Given the description of an element on the screen output the (x, y) to click on. 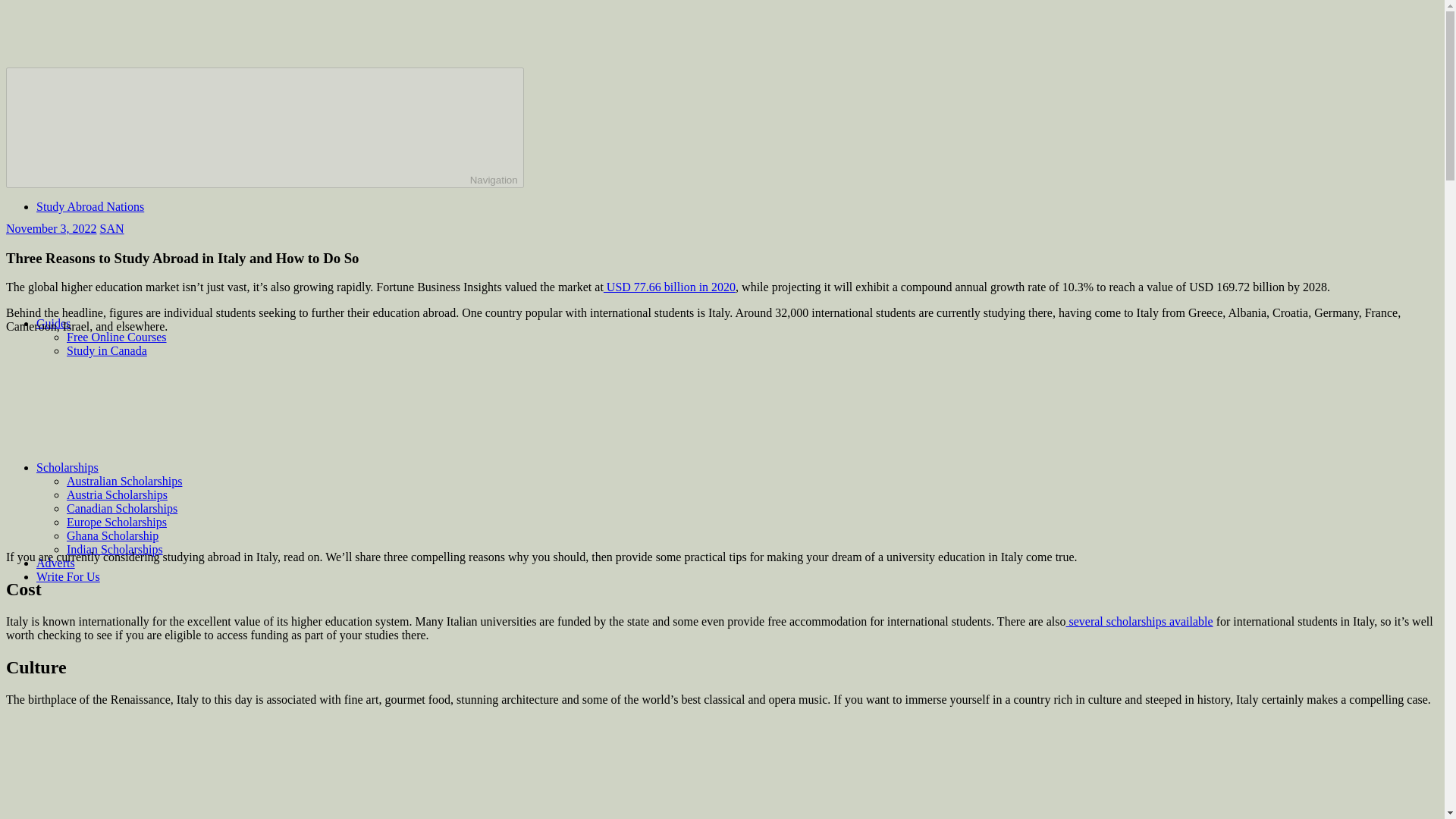
Australian Scholarships (124, 481)
4:33 pm (51, 228)
View all posts by SAN (111, 228)
Indian Scholarships (114, 549)
several scholarships available (1138, 621)
November 3, 2022 (51, 228)
Europe Scholarships (116, 521)
Ghana Scholarship (112, 535)
Study Abroad Nations (90, 205)
SAN (111, 228)
USD 77.66 billion in 2020 (669, 286)
Austria Scholarships (116, 494)
Guides (167, 323)
Study in Canada (106, 350)
Write For Us (68, 576)
